Given the description of an element on the screen output the (x, y) to click on. 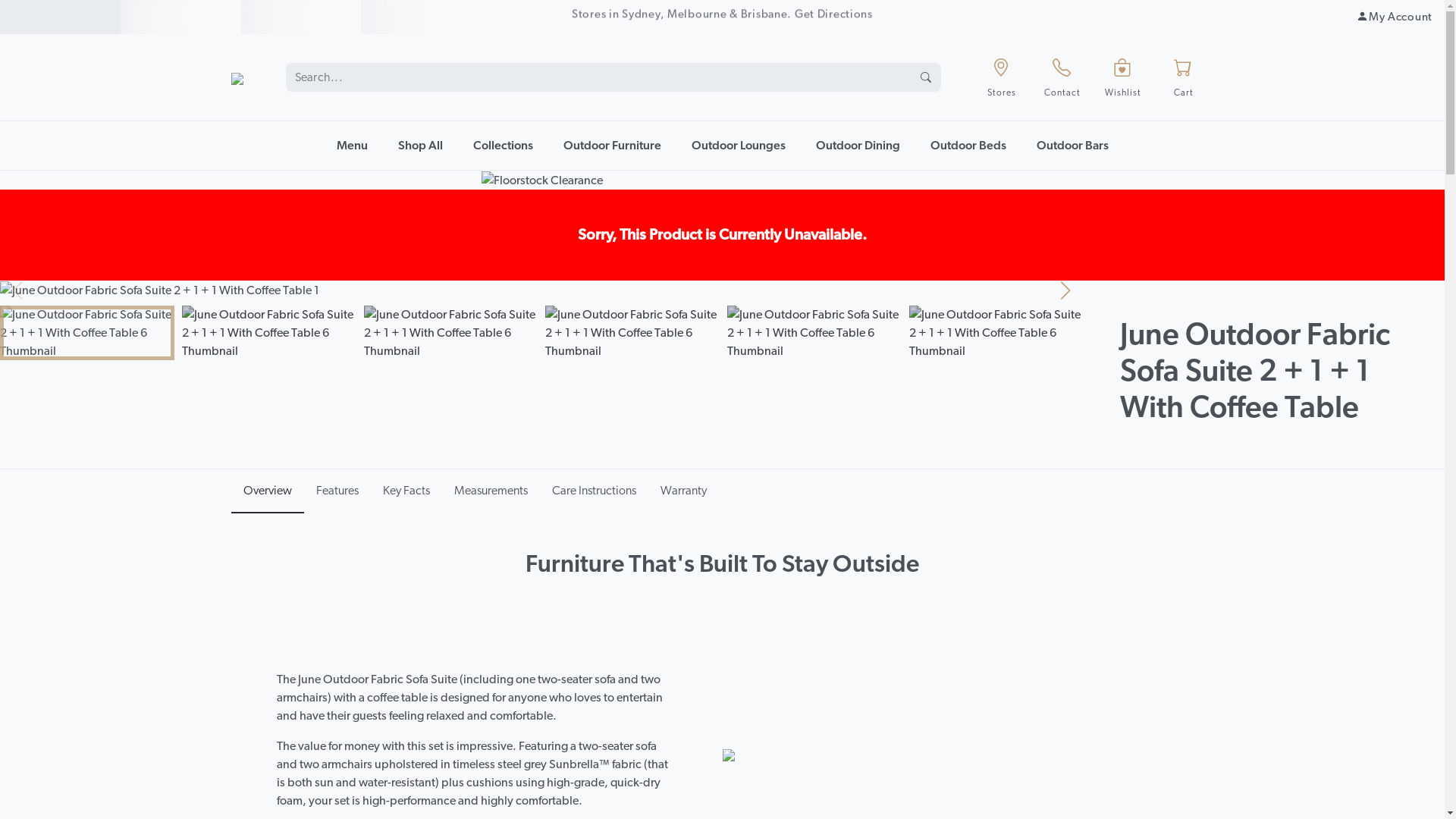
  Element type: text (180, 17)
My Account Element type: text (1394, 17)
Features Element type: text (336, 490)
Outdoor Lounges Element type: text (738, 145)
Stores in Sydney, Melbourne & Brisbane. Get Directions Element type: text (721, 17)
Collections Element type: text (503, 145)
Outdoor Bars Element type: text (1071, 145)
  Element type: text (60, 17)
Contact Element type: text (1061, 77)
Menu Element type: text (351, 145)
Cart Element type: text (1182, 77)
Stores Element type: text (1000, 77)
  Element type: text (301, 17)
Warranty Element type: text (682, 490)
Measurements Element type: text (490, 490)
Care Instructions Element type: text (593, 490)
Outdoor Dining Element type: text (857, 145)
Key Facts Element type: text (405, 490)
2023-11-23 10:37:42 Element type: hover (60, 17)
Outdoor Furniture Element type: text (611, 145)
Wishlist Element type: text (1122, 77)
Outdoor Beds Element type: text (967, 145)
Shop All Element type: text (419, 145)
1 Element type: hover (180, 17)
Overview Element type: text (266, 491)
